Given the description of an element on the screen output the (x, y) to click on. 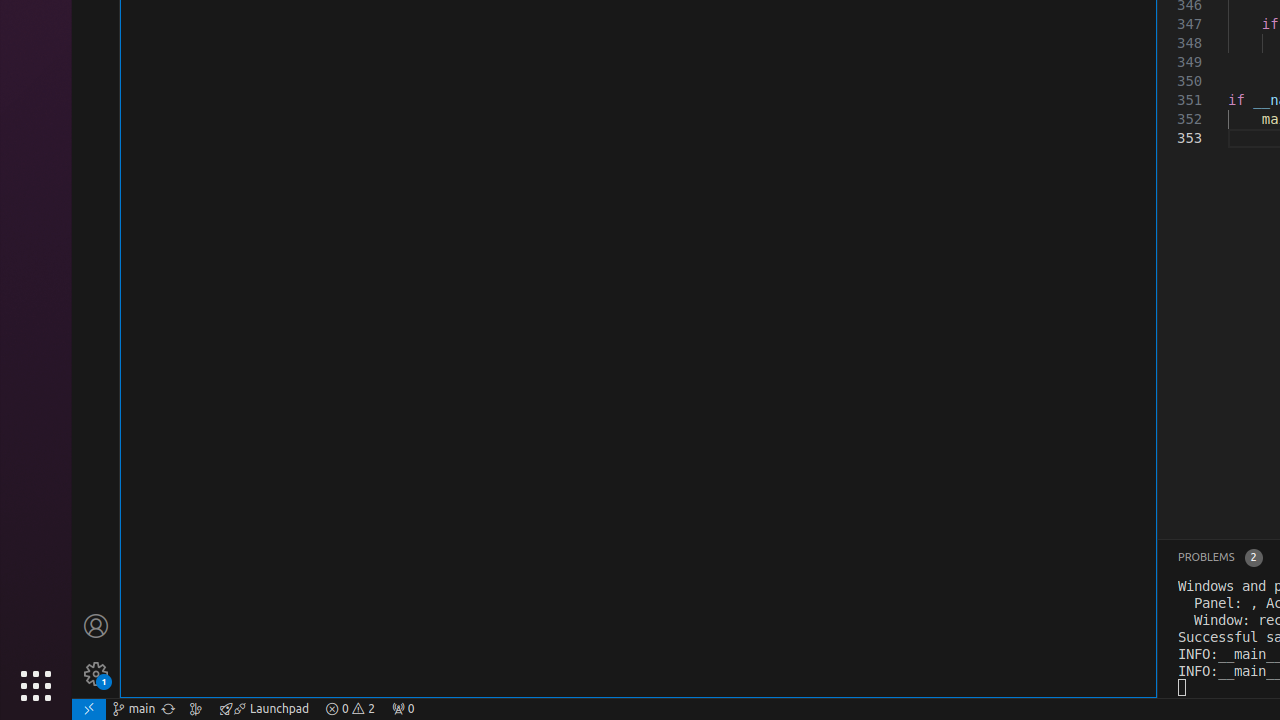
Warnings: 2 Element type: push-button (350, 709)
Manage - New Code update available. Element type: push-button (96, 674)
Problems (Ctrl+Shift+M) - Total 2 Problems Element type: page-tab (1219, 557)
Show the GitLens Commit Graph Element type: push-button (196, 709)
No Ports Forwarded Element type: push-button (403, 709)
